Given the description of an element on the screen output the (x, y) to click on. 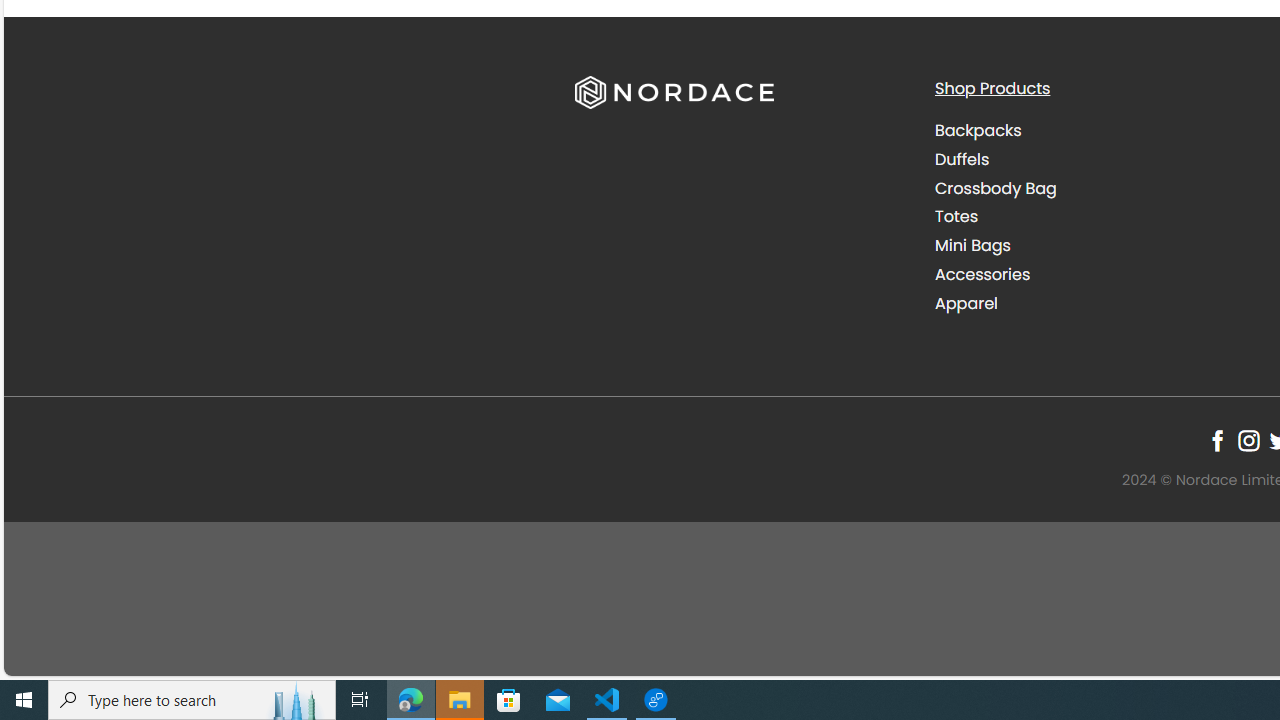
Mini Bags (972, 245)
